Given the description of an element on the screen output the (x, y) to click on. 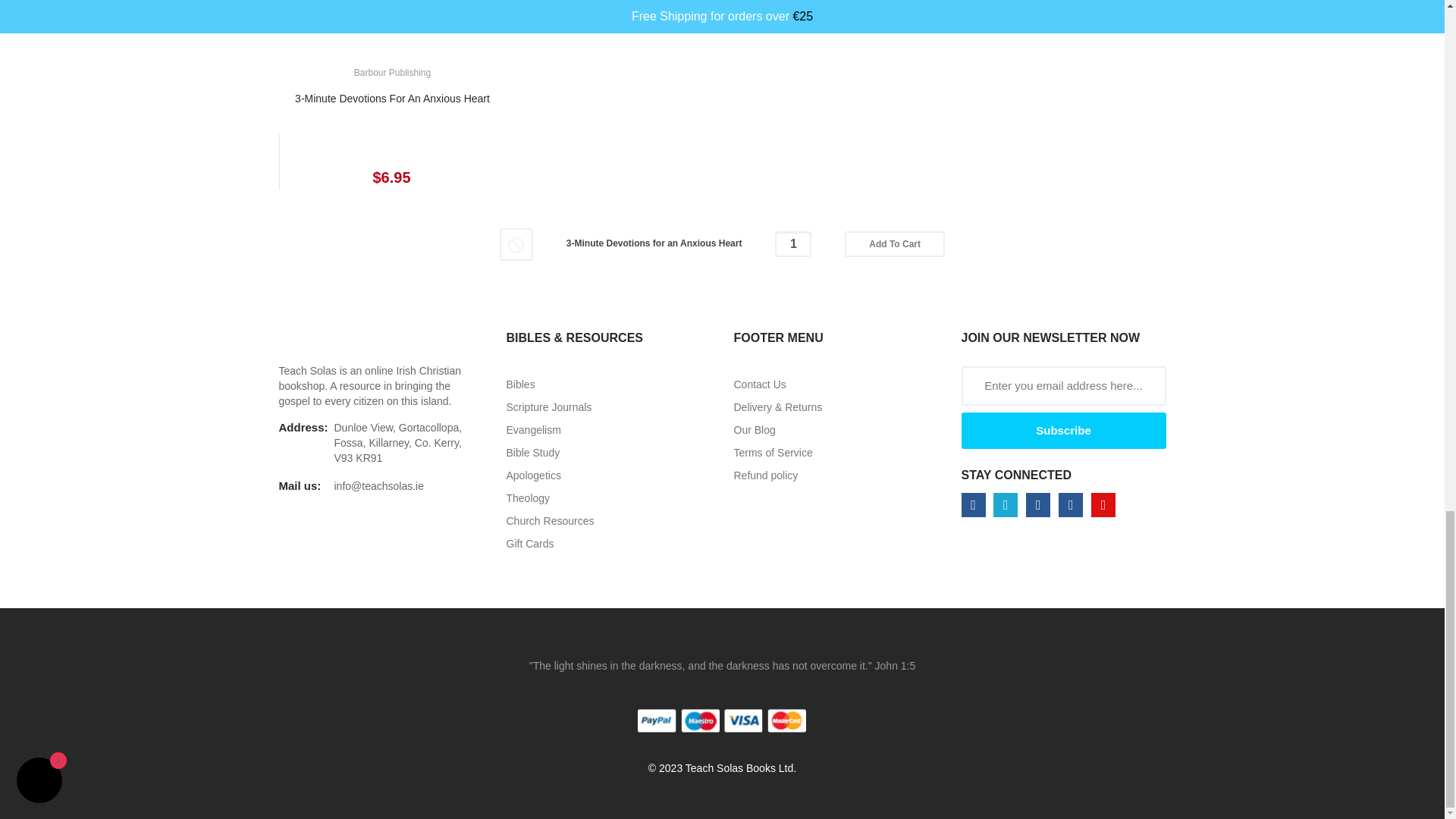
1 (792, 243)
